Given the description of an element on the screen output the (x, y) to click on. 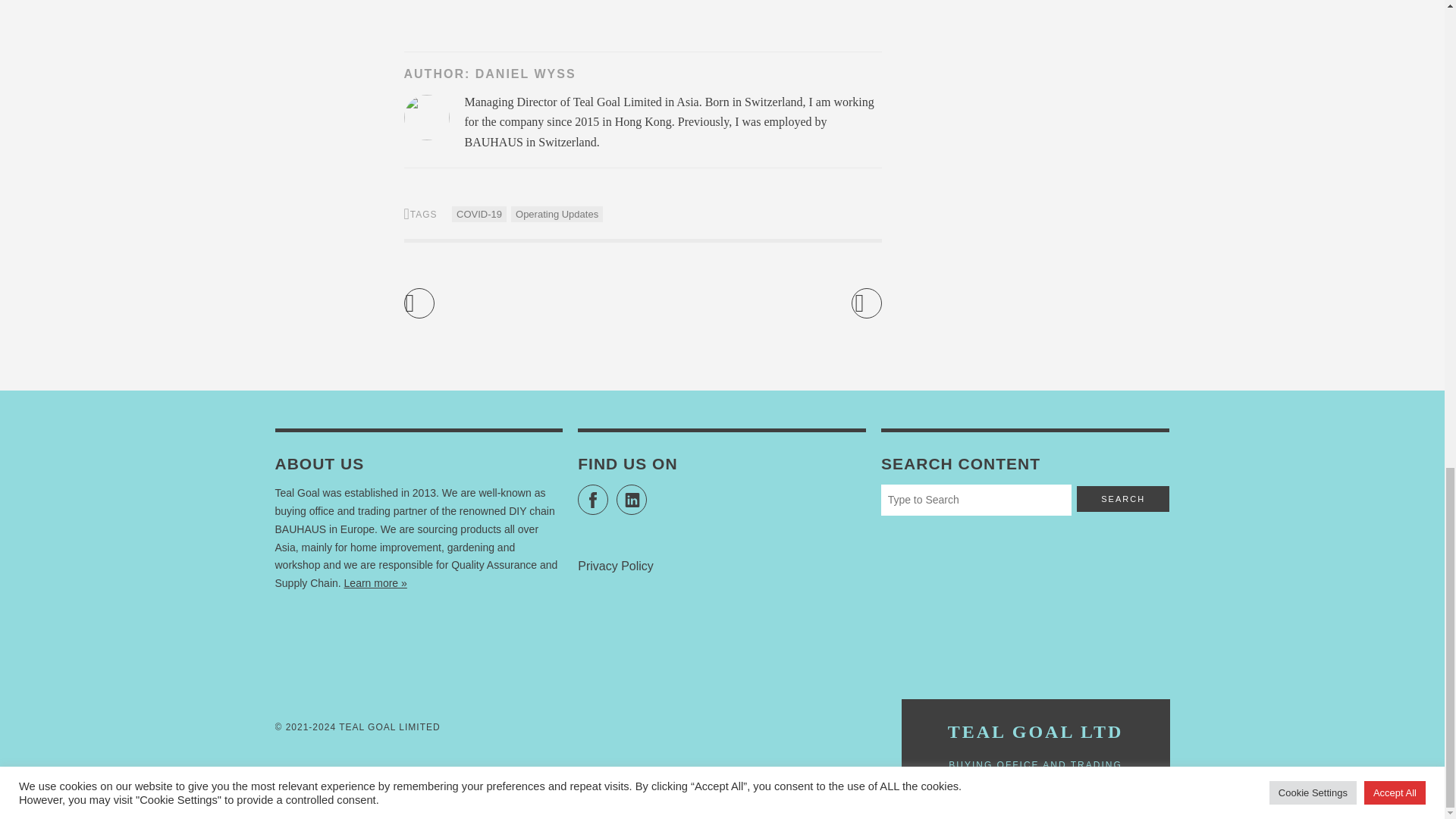
LinkedIn (630, 499)
DANIEL WYSS (526, 73)
Facebook (593, 499)
Search (1123, 498)
COVID-19 (478, 213)
Privacy Policy (615, 565)
LinkedIn (630, 499)
Facebook (593, 499)
Daniel Wyss (526, 73)
Operating Updates (556, 213)
Search (1123, 498)
